Given the description of an element on the screen output the (x, y) to click on. 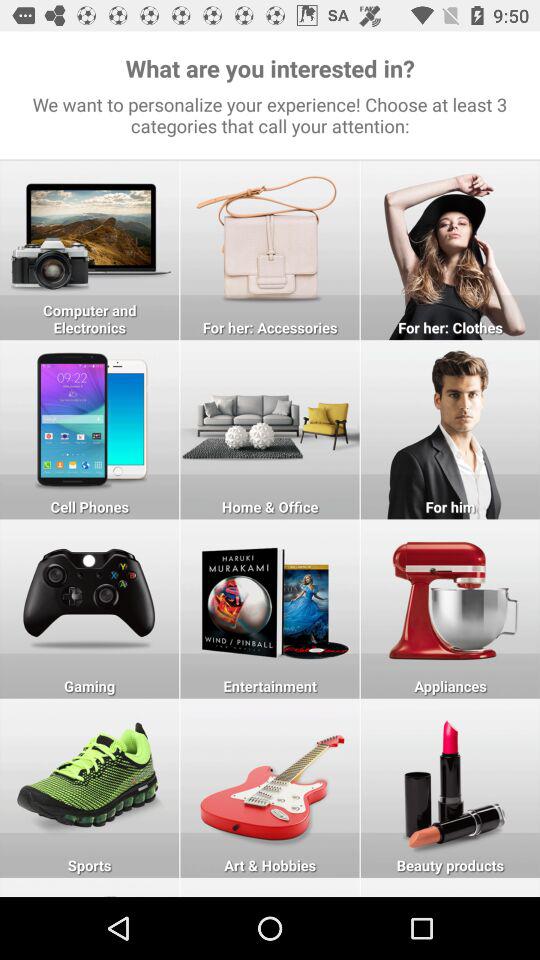
open product category (89, 429)
